Given the description of an element on the screen output the (x, y) to click on. 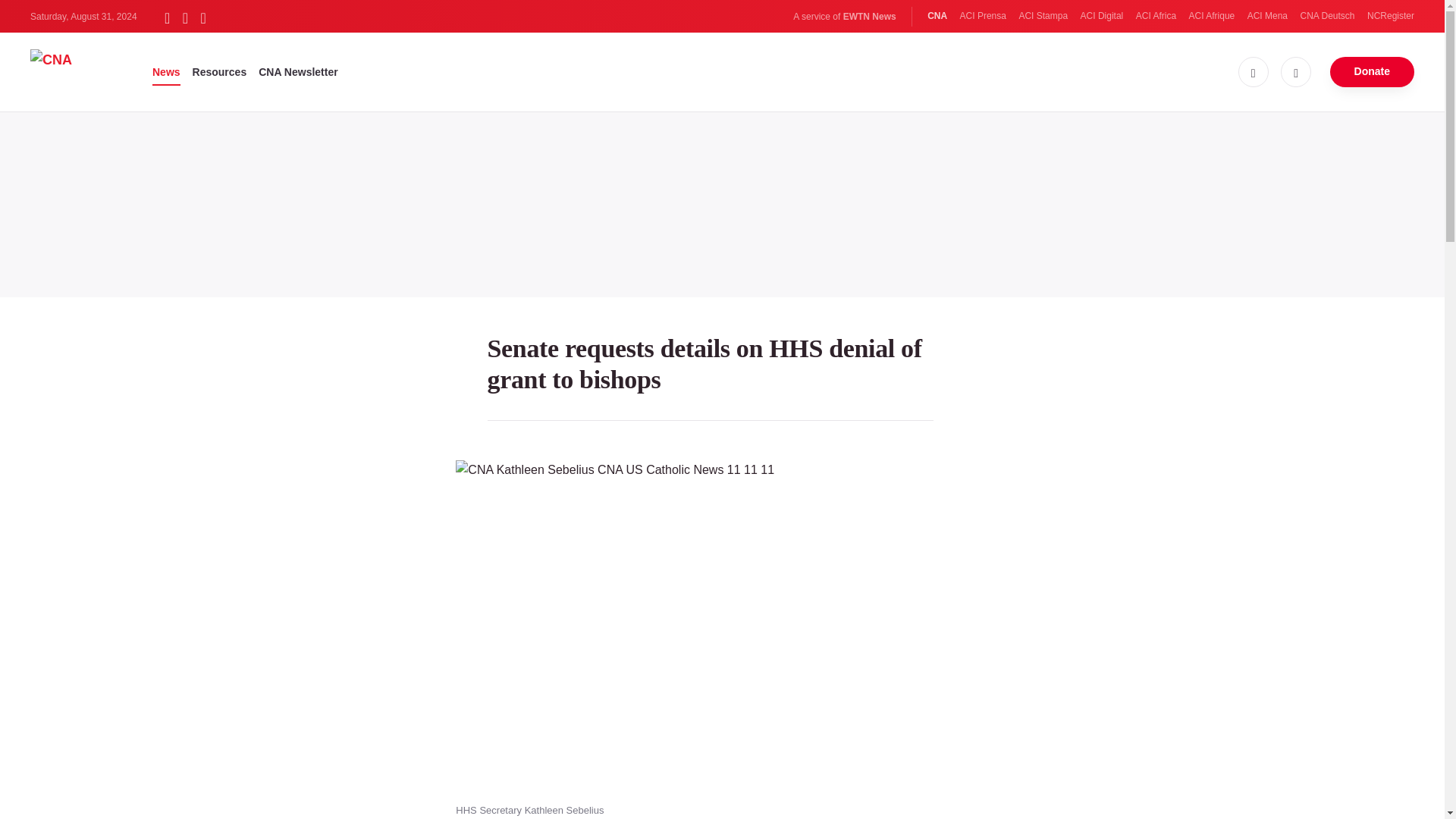
Resources (219, 71)
ACI Digital (1102, 16)
ACI Afrique (1211, 16)
ACI Stampa (1042, 16)
ACI Mena (1267, 16)
EWTN News (869, 16)
ACI Prensa (982, 16)
News (166, 71)
CNA Deutsch (1327, 16)
CNA (937, 16)
